Given the description of an element on the screen output the (x, y) to click on. 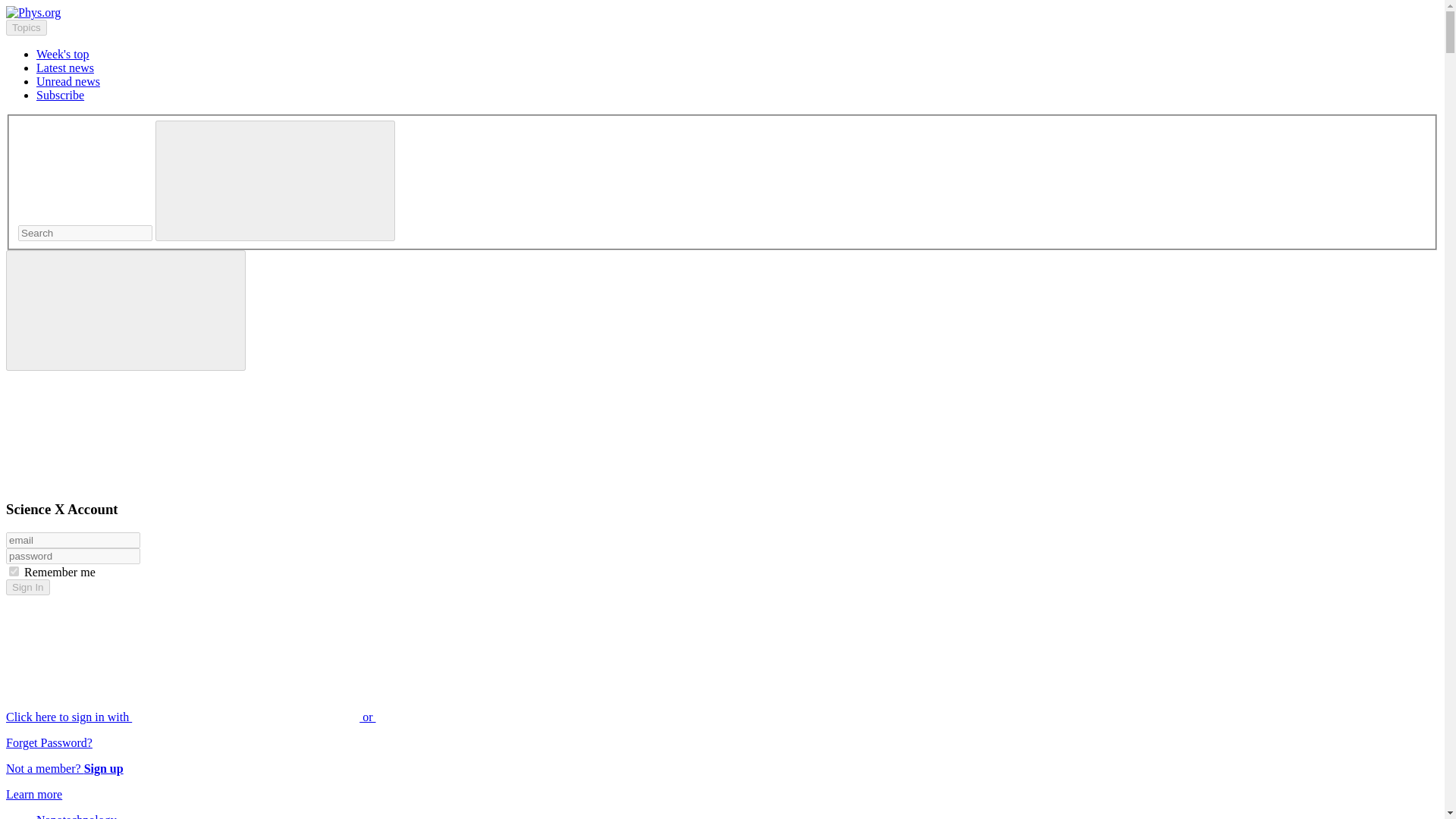
Nanotechnology (76, 816)
Unread news (68, 81)
Click here to sign in with or (304, 716)
Sign In (27, 587)
Week's top (62, 53)
Forget Password? (49, 742)
on (13, 571)
Not a member? Sign up (64, 768)
Subscribe (60, 94)
Topics (25, 27)
